Given the description of an element on the screen output the (x, y) to click on. 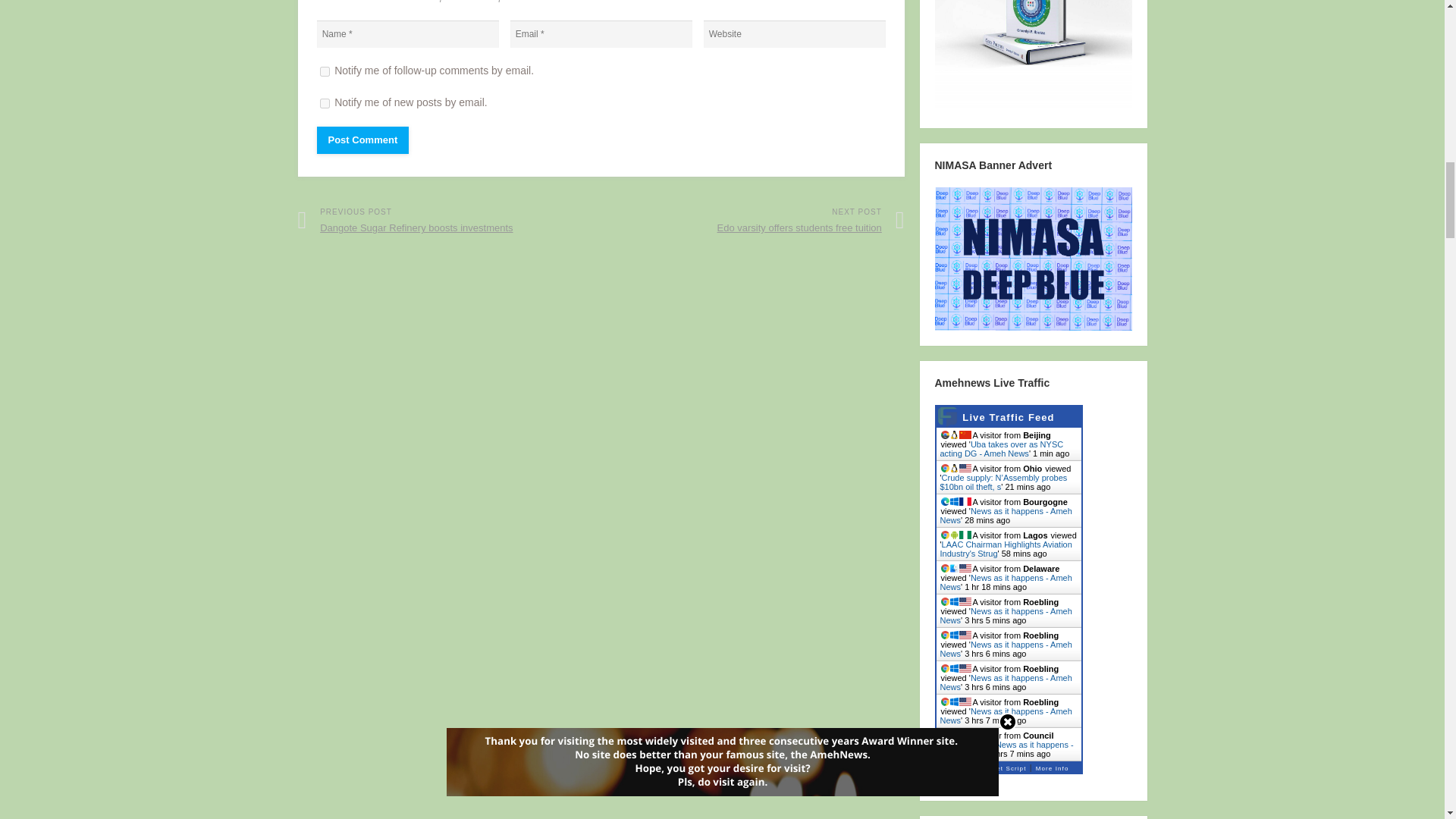
subscribe (325, 103)
Post Comment (363, 139)
subscribe (325, 71)
